Given the description of an element on the screen output the (x, y) to click on. 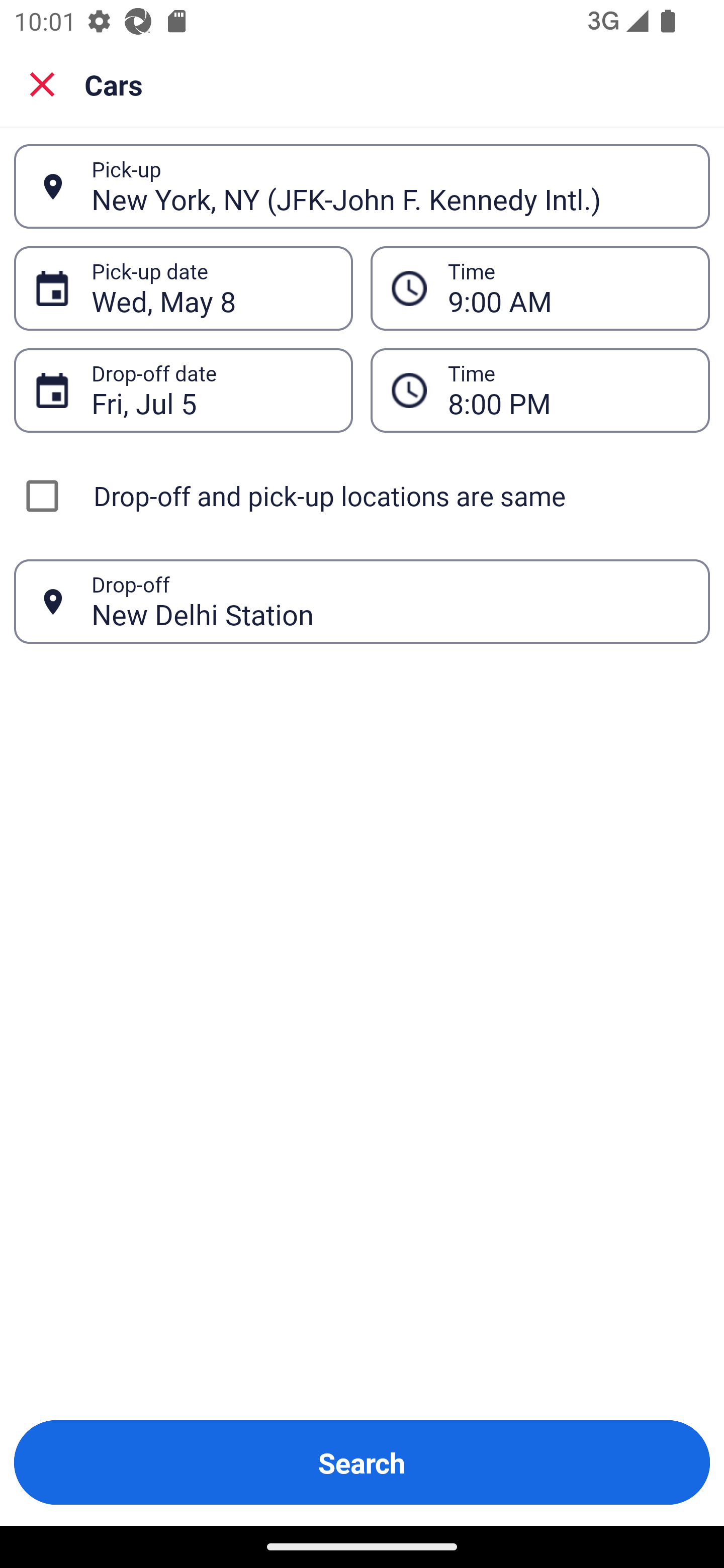
Close search screen (41, 83)
New York, NY (JFK-John F. Kennedy Intl.) Pick-up (361, 186)
New York, NY (JFK-John F. Kennedy Intl.) (389, 186)
Wed, May 8 Pick-up date (183, 288)
9:00 AM (540, 288)
Wed, May 8 (211, 288)
9:00 AM (568, 288)
Fri, Jul 5 Drop-off date (183, 390)
8:00 PM (540, 390)
Fri, Jul 5 (211, 390)
8:00 PM (568, 390)
Drop-off and pick-up locations are same (361, 495)
New Delhi Station Drop-off (361, 601)
New Delhi Station (389, 601)
Search Button Search (361, 1462)
